Given the description of an element on the screen output the (x, y) to click on. 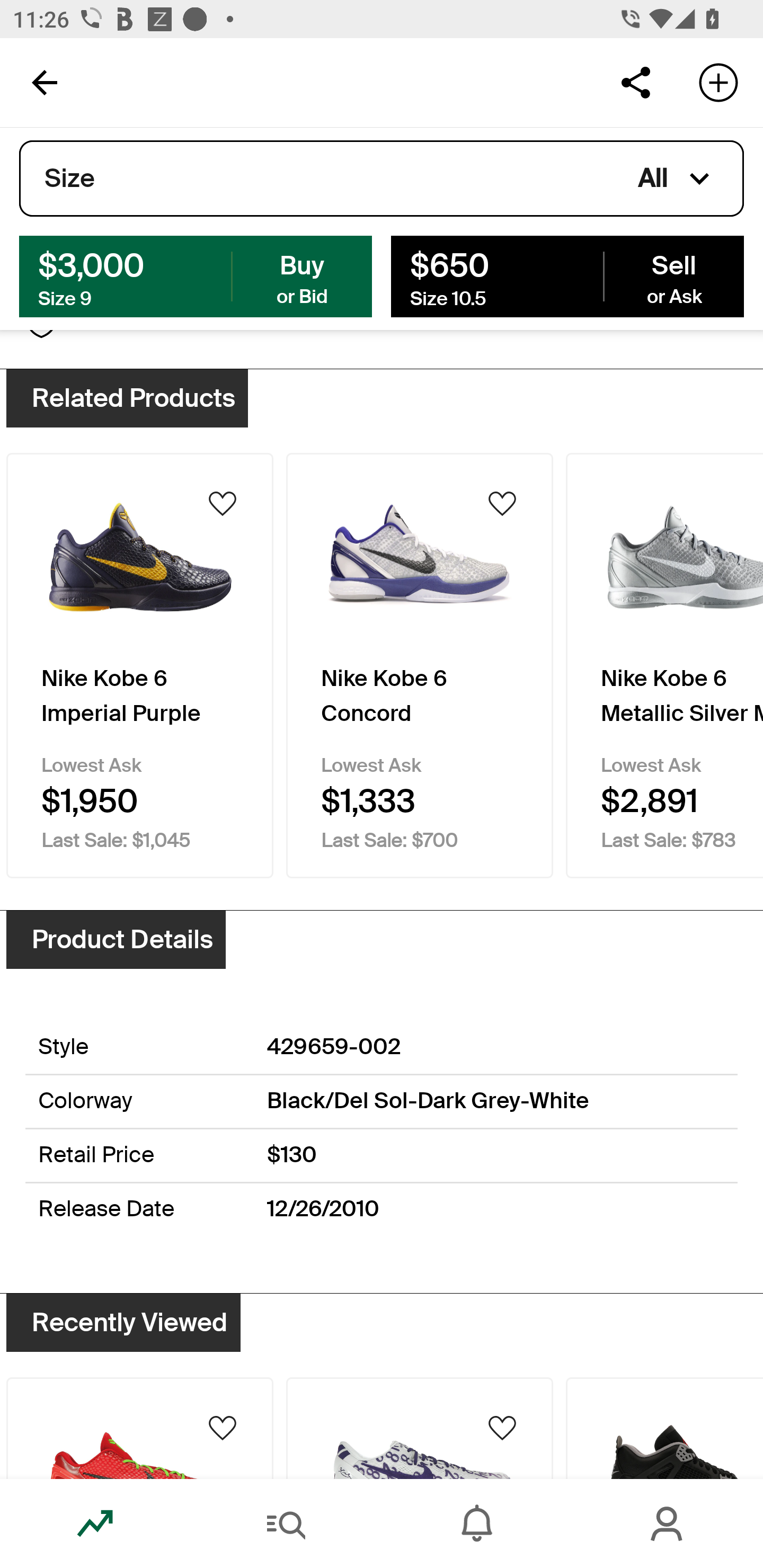
Share (635, 81)
Add (718, 81)
Size All (381, 178)
$146 Buy Size 4.5 or Bid (195, 275)
$260 Sell Size 12.5 or Ask (566, 275)
Search (285, 1523)
Inbox (476, 1523)
Account (667, 1523)
